Given the description of an element on the screen output the (x, y) to click on. 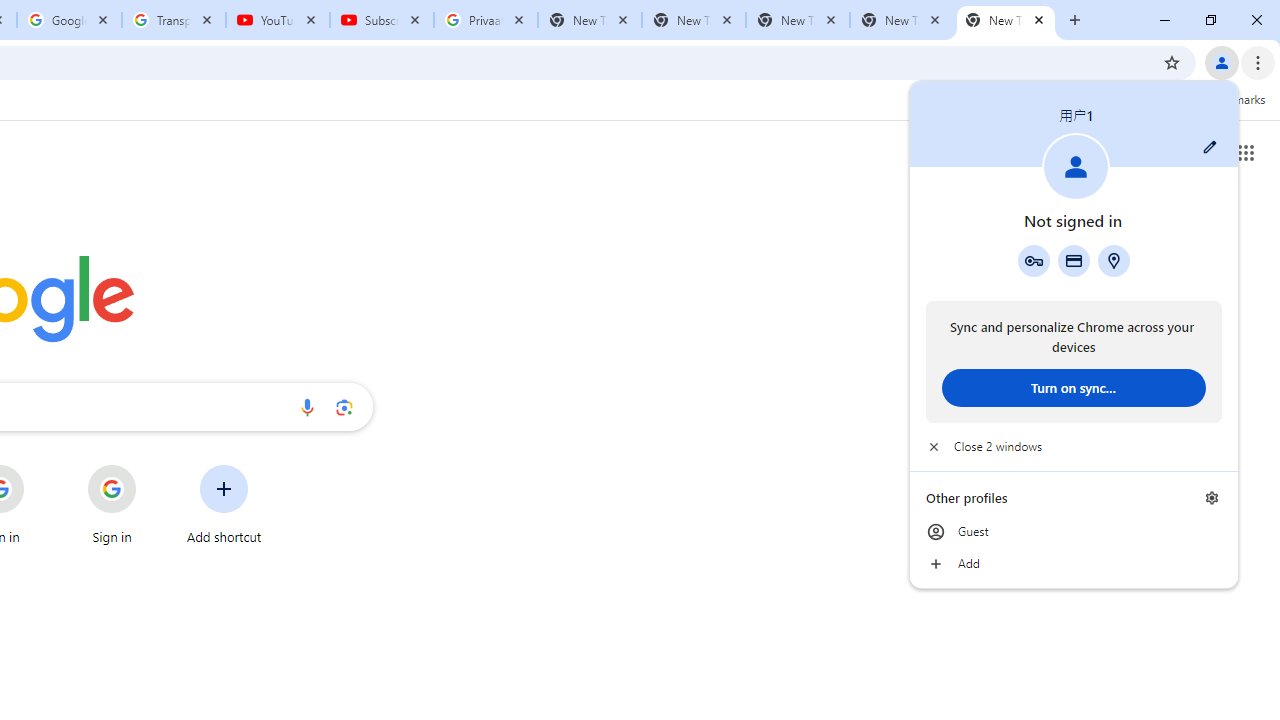
Google Account (68, 20)
New Tab (1005, 20)
YouTube (278, 20)
Addresses and more (1114, 260)
Close 2 windows (1073, 446)
Payment methods (1074, 260)
Guest (1073, 531)
Customize profile (1210, 147)
Add (1073, 563)
Manage profiles (1211, 498)
